Given the description of an element on the screen output the (x, y) to click on. 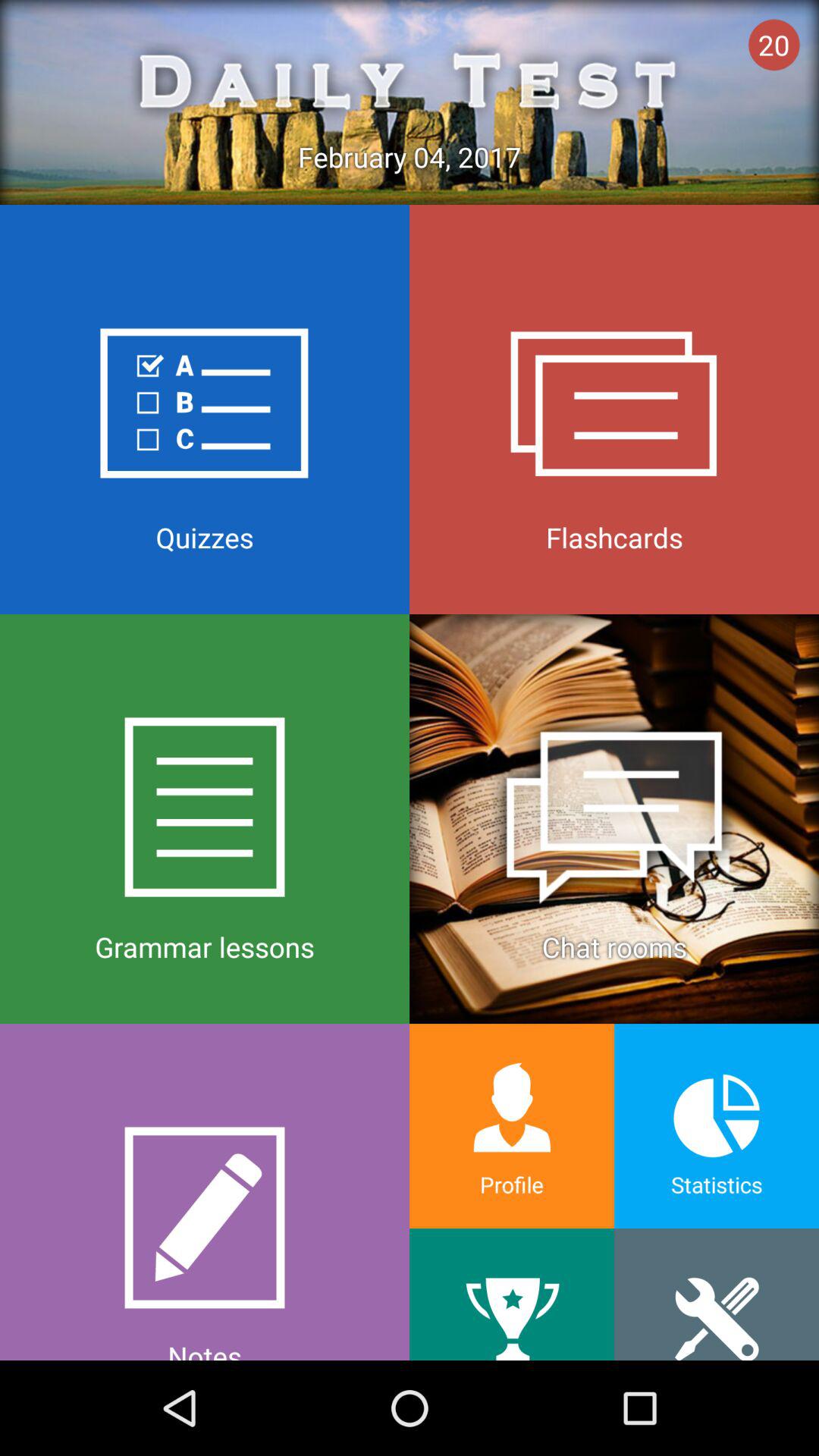
click on profile on the left side of statistics (511, 1125)
click on profile on the left side of statistics (511, 1125)
click on icon above profile (614, 818)
